Given the description of an element on the screen output the (x, y) to click on. 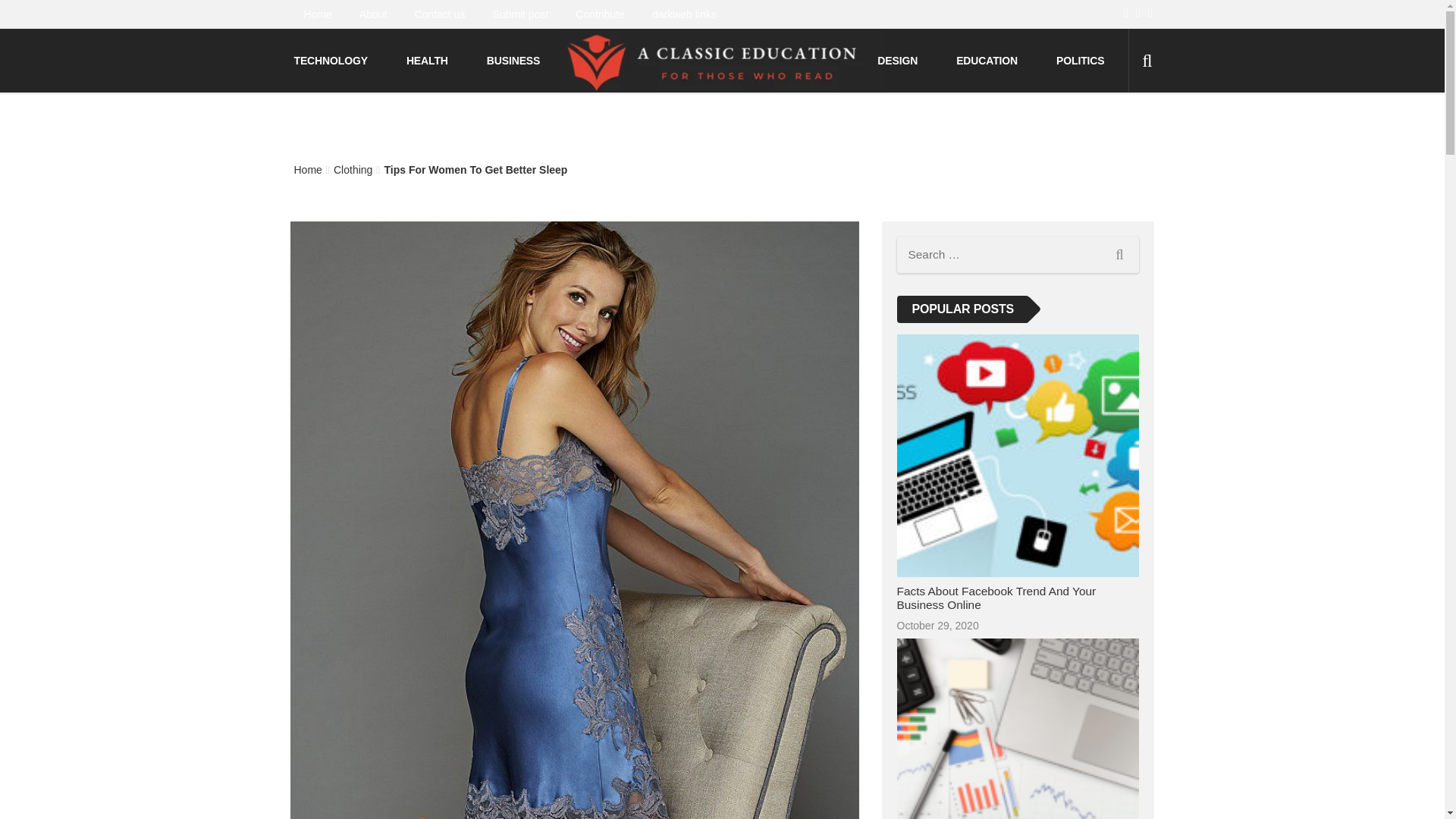
Contribute (600, 13)
About (373, 13)
DESIGN (899, 60)
BUSINESS (515, 60)
GitHub (1138, 11)
EDUCATION (988, 60)
Home (307, 169)
Home (317, 13)
Home (307, 169)
HEALTH (429, 60)
Submit post (520, 13)
Clothing (352, 169)
Tips For Women To Get Better Sleep (475, 169)
POLITICS (1082, 60)
Facebook (1126, 11)
